Given the description of an element on the screen output the (x, y) to click on. 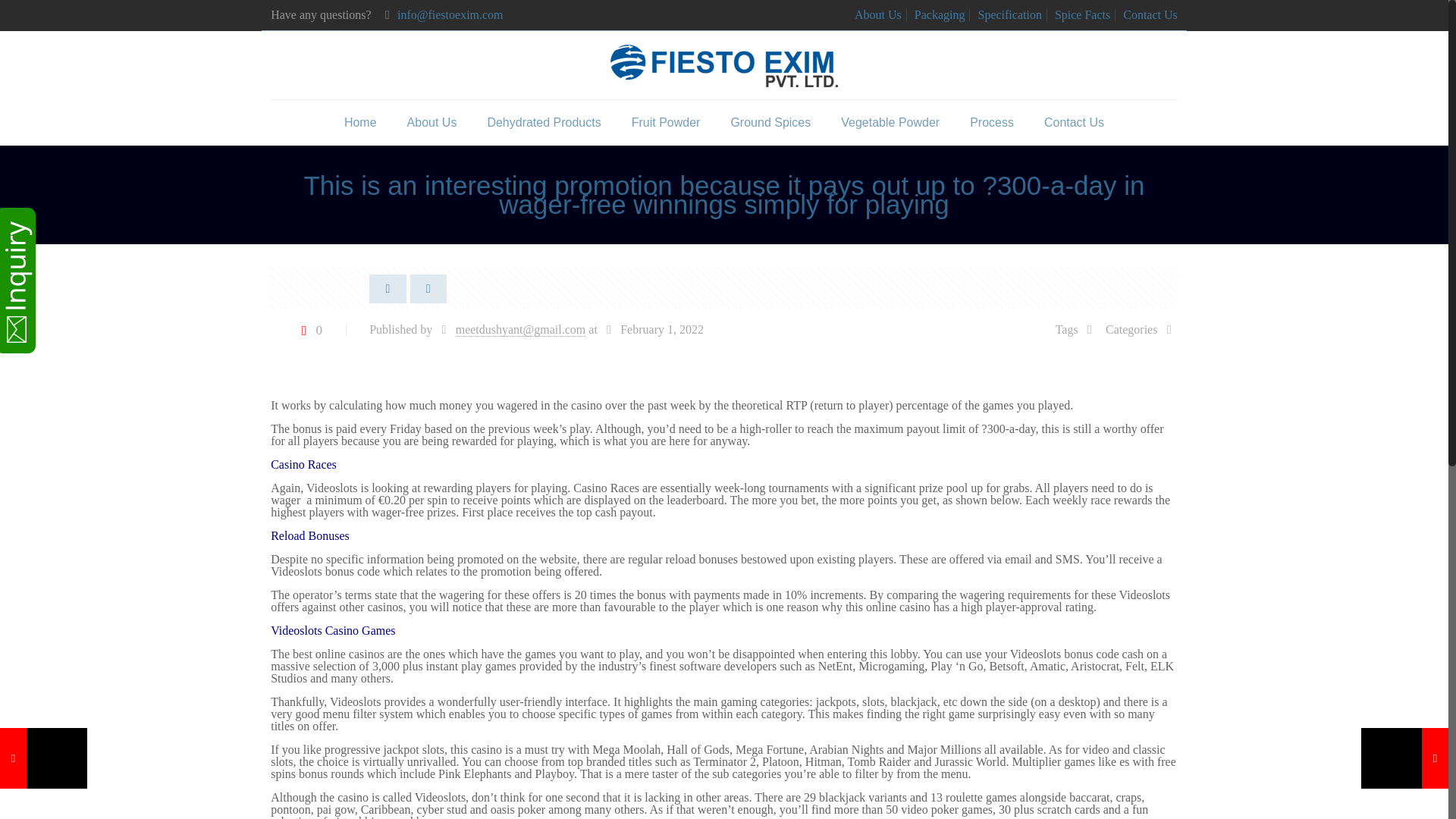
About Us (431, 122)
Fruit Powder (665, 122)
Fiestoexim (724, 65)
Specification (1008, 14)
Contact Us (1149, 14)
Dehydrated Products (543, 122)
About Us (877, 14)
Packaging (939, 14)
Home (360, 122)
Spice Facts (1081, 14)
